Given the description of an element on the screen output the (x, y) to click on. 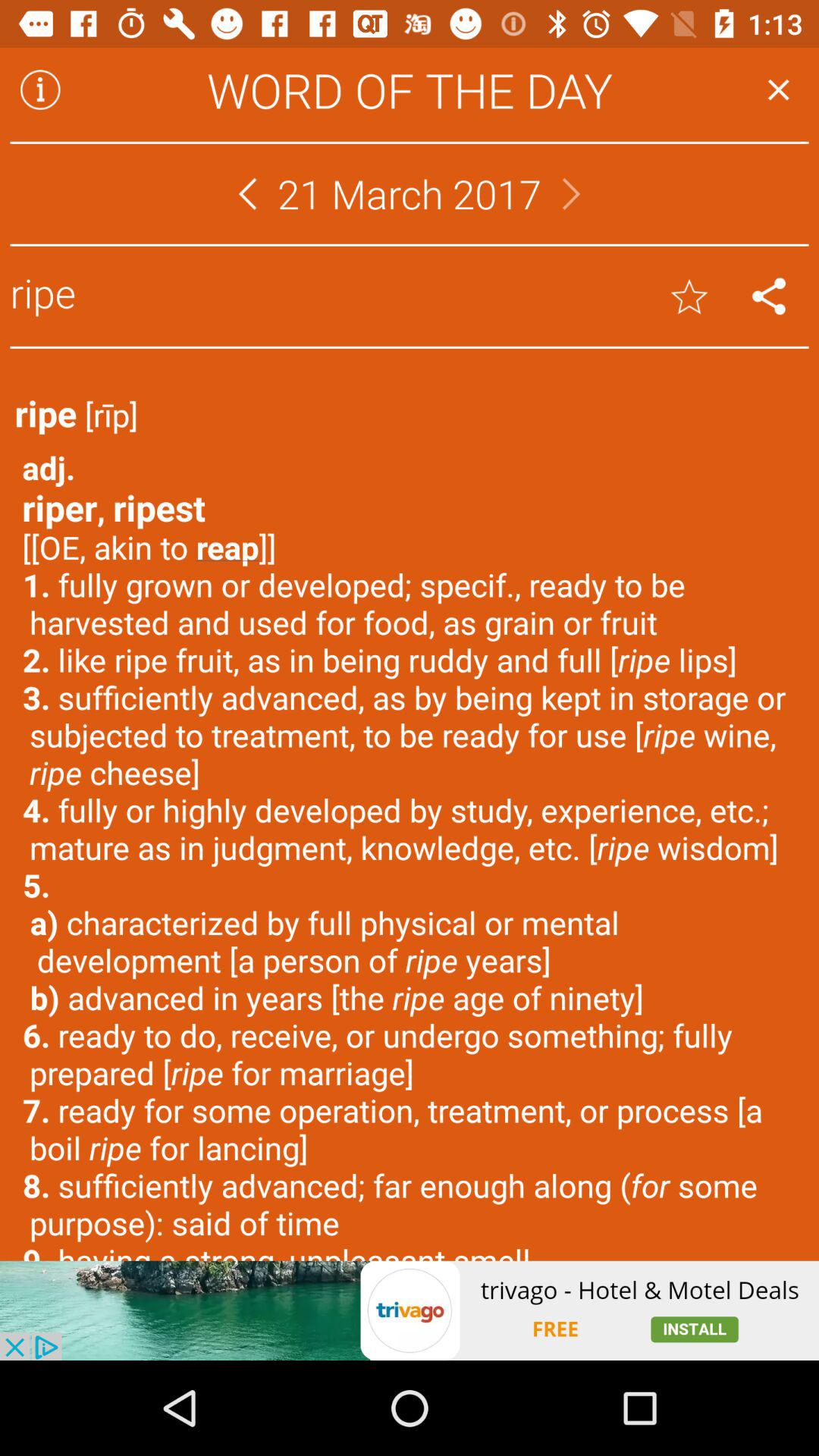
close the option (778, 89)
